Given the description of an element on the screen output the (x, y) to click on. 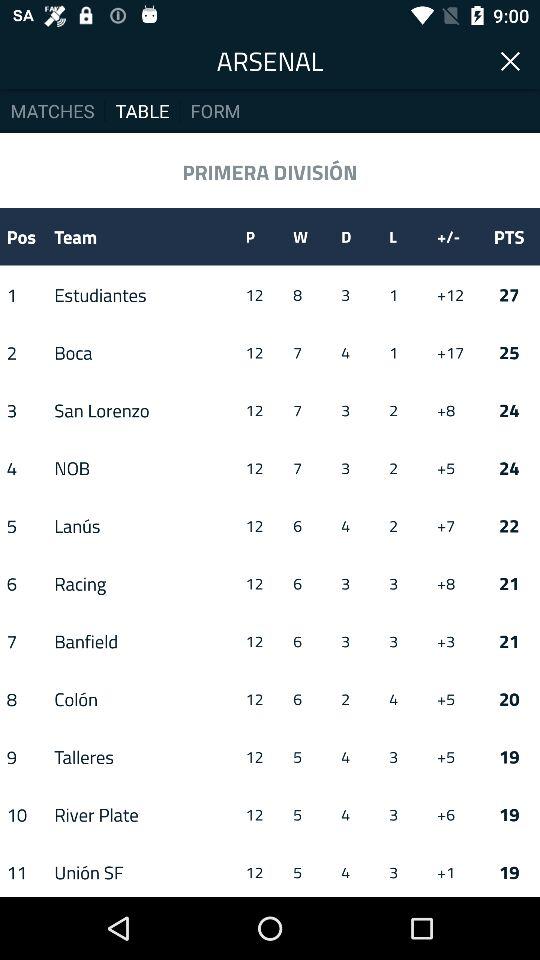
press item below arsenal item (215, 110)
